Given the description of an element on the screen output the (x, y) to click on. 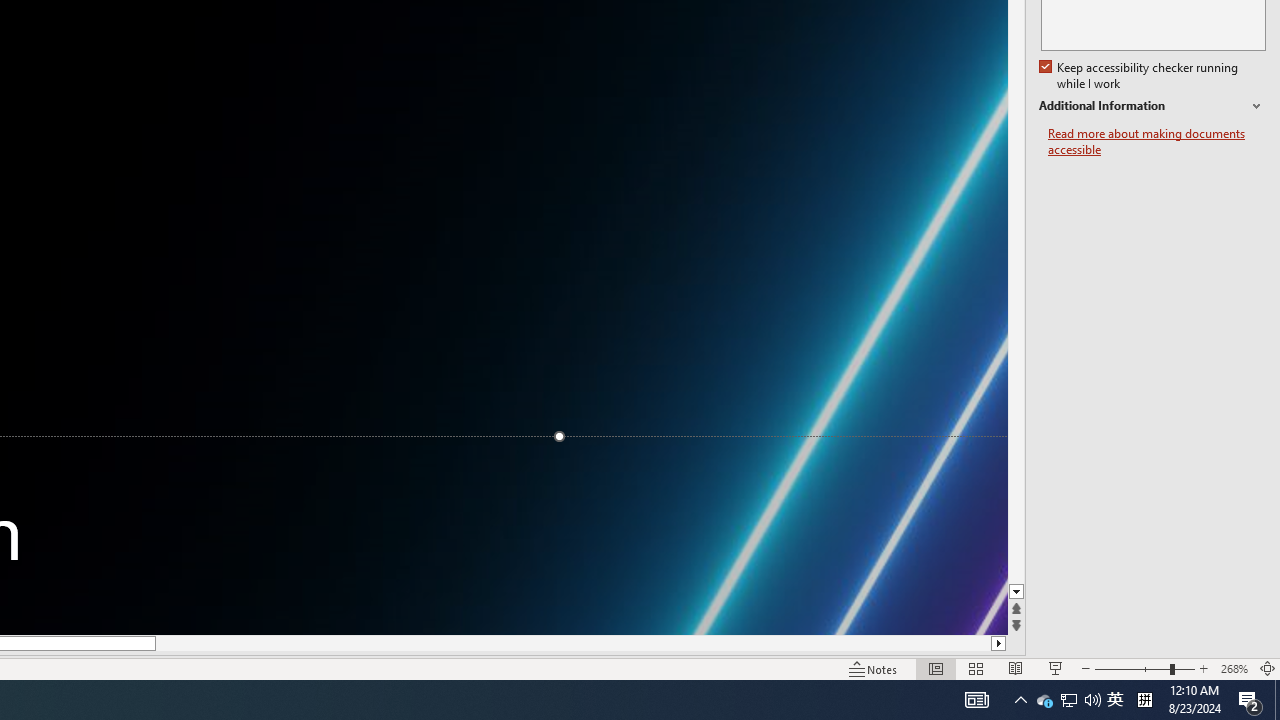
Zoom 268% (1234, 668)
